Given the description of an element on the screen output the (x, y) to click on. 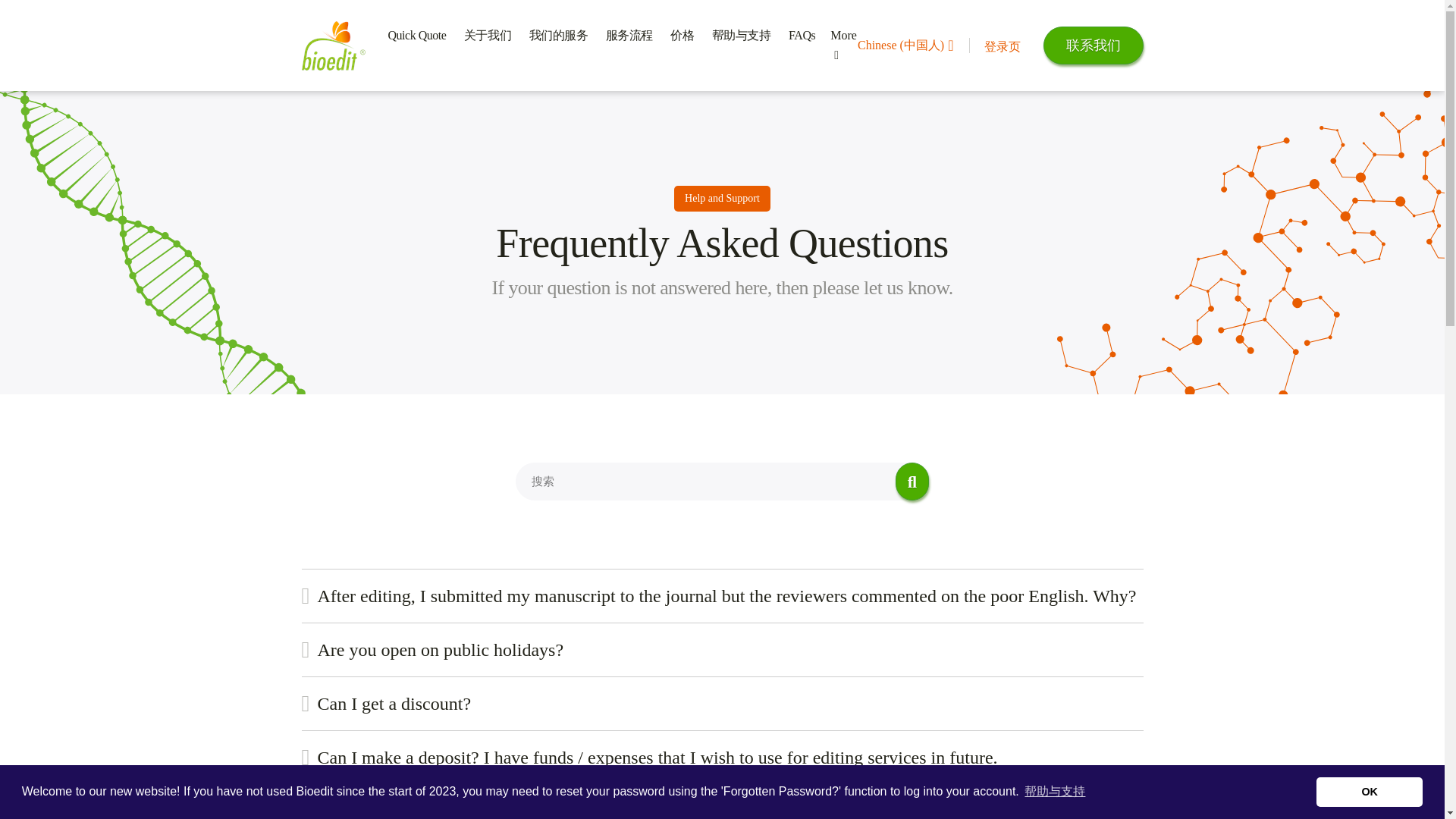
OK (1369, 791)
FAQs (802, 34)
Quick Quote (417, 34)
